Given the description of an element on the screen output the (x, y) to click on. 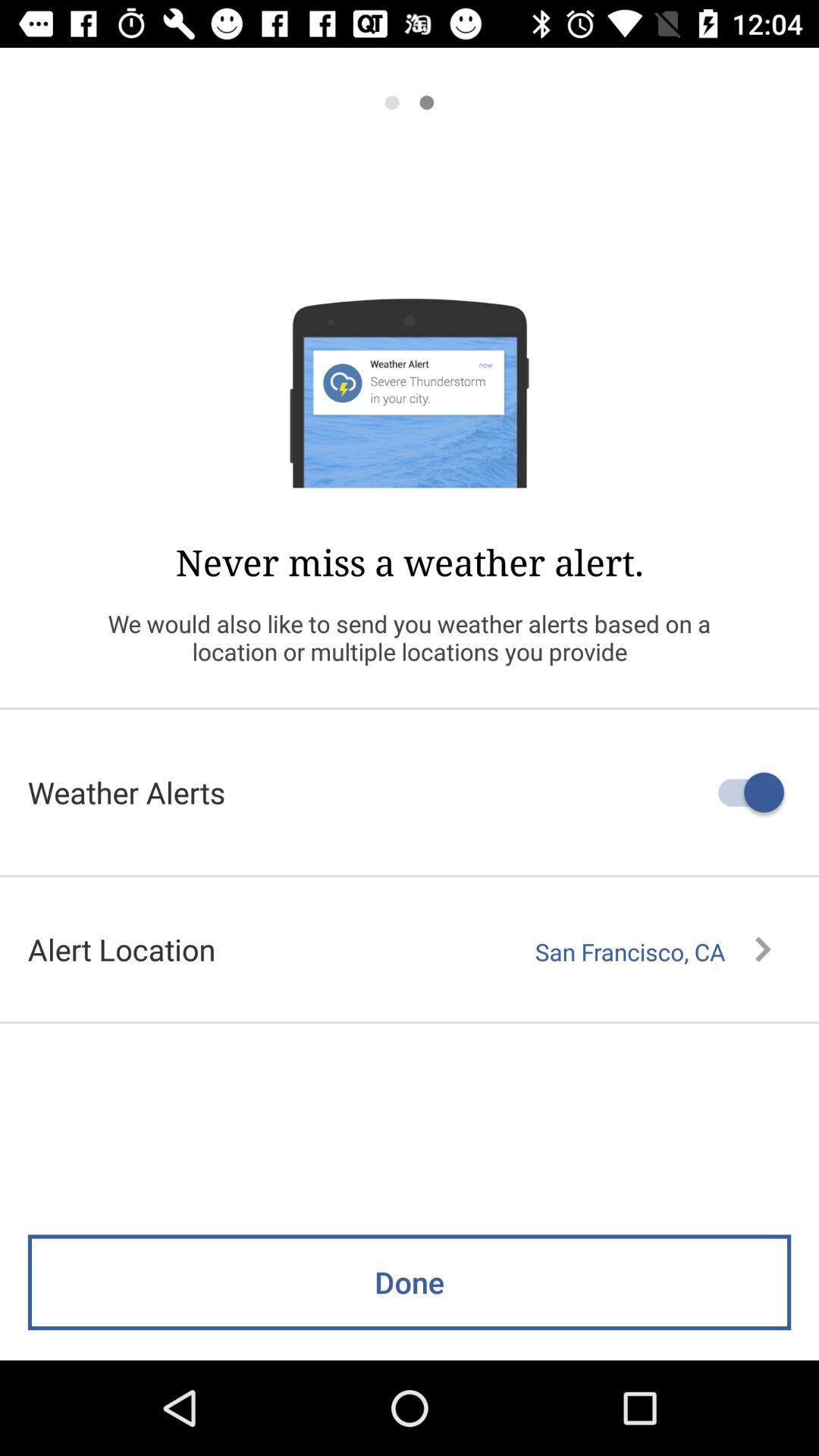
open the san francisco, ca item (653, 951)
